Given the description of an element on the screen output the (x, y) to click on. 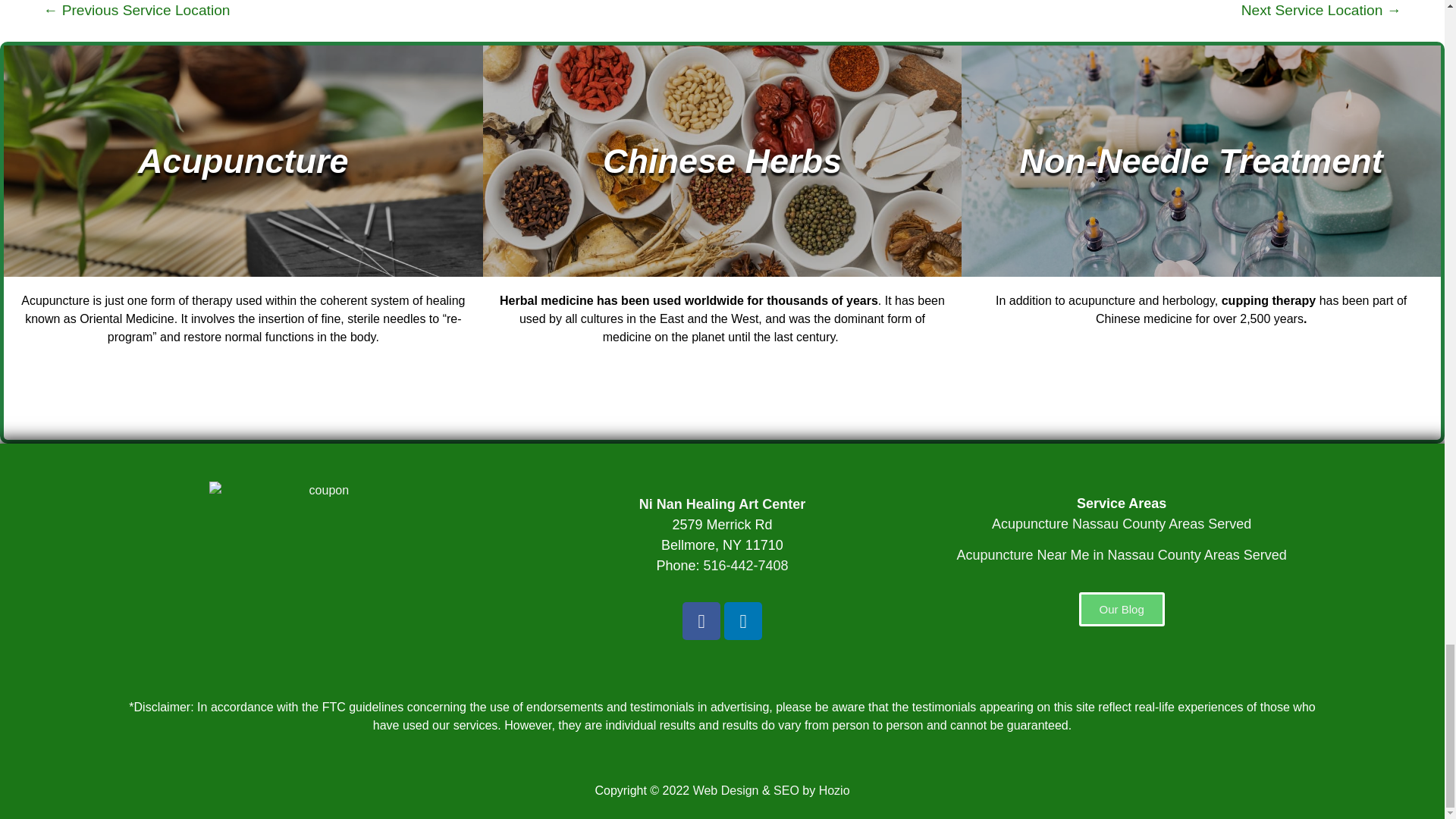
Ni Nan Healing Art Center (722, 503)
516-442-7408 (745, 565)
Ni Nan Healing Art Center (722, 503)
